Given the description of an element on the screen output the (x, y) to click on. 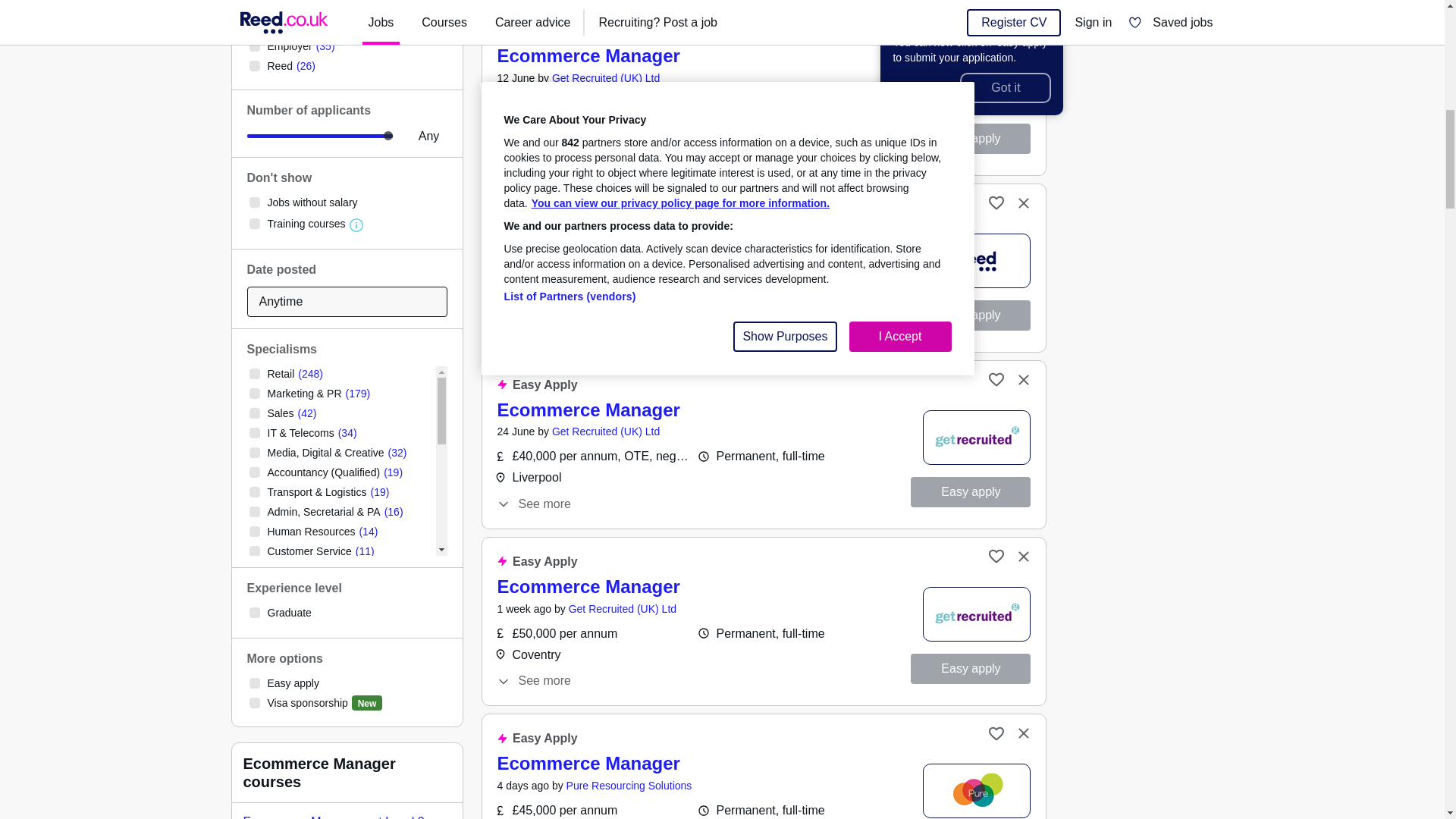
on (253, 45)
on (253, 393)
on (253, 471)
on (253, 202)
on (253, 26)
on (253, 373)
on (253, 452)
on (253, 432)
on (253, 65)
2 (320, 136)
on (253, 223)
on (253, 412)
